Given the description of an element on the screen output the (x, y) to click on. 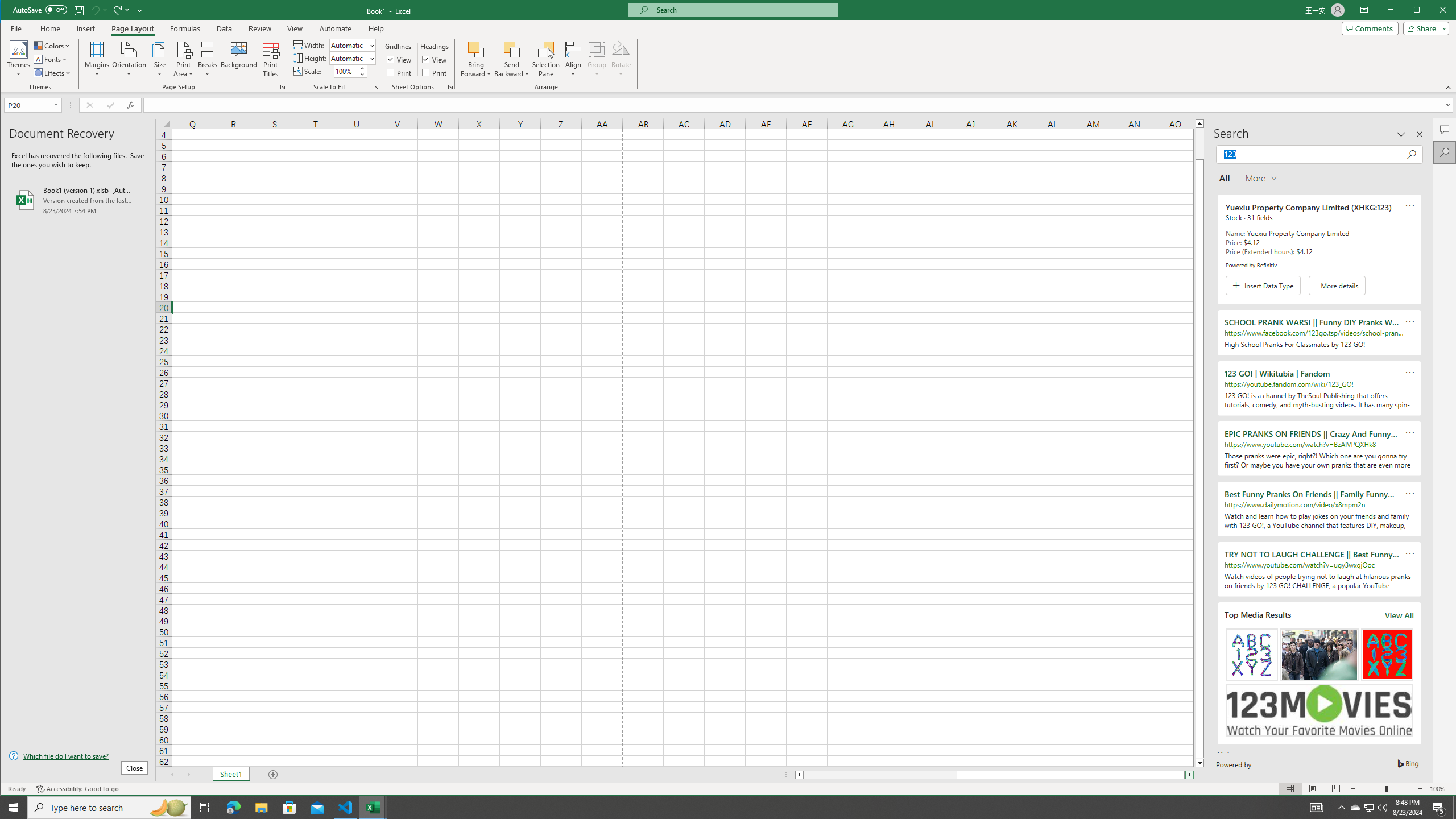
Customize Quick Access Toolbar (140, 9)
Sheet1 (230, 774)
Add Sheet (272, 774)
File Tab (16, 27)
Orientation (129, 59)
Height (349, 58)
Line up (1199, 122)
Type here to search (108, 807)
Collapse the Ribbon (1448, 87)
Zoom Out (1372, 788)
Zoom In (1420, 788)
